Given the description of an element on the screen output the (x, y) to click on. 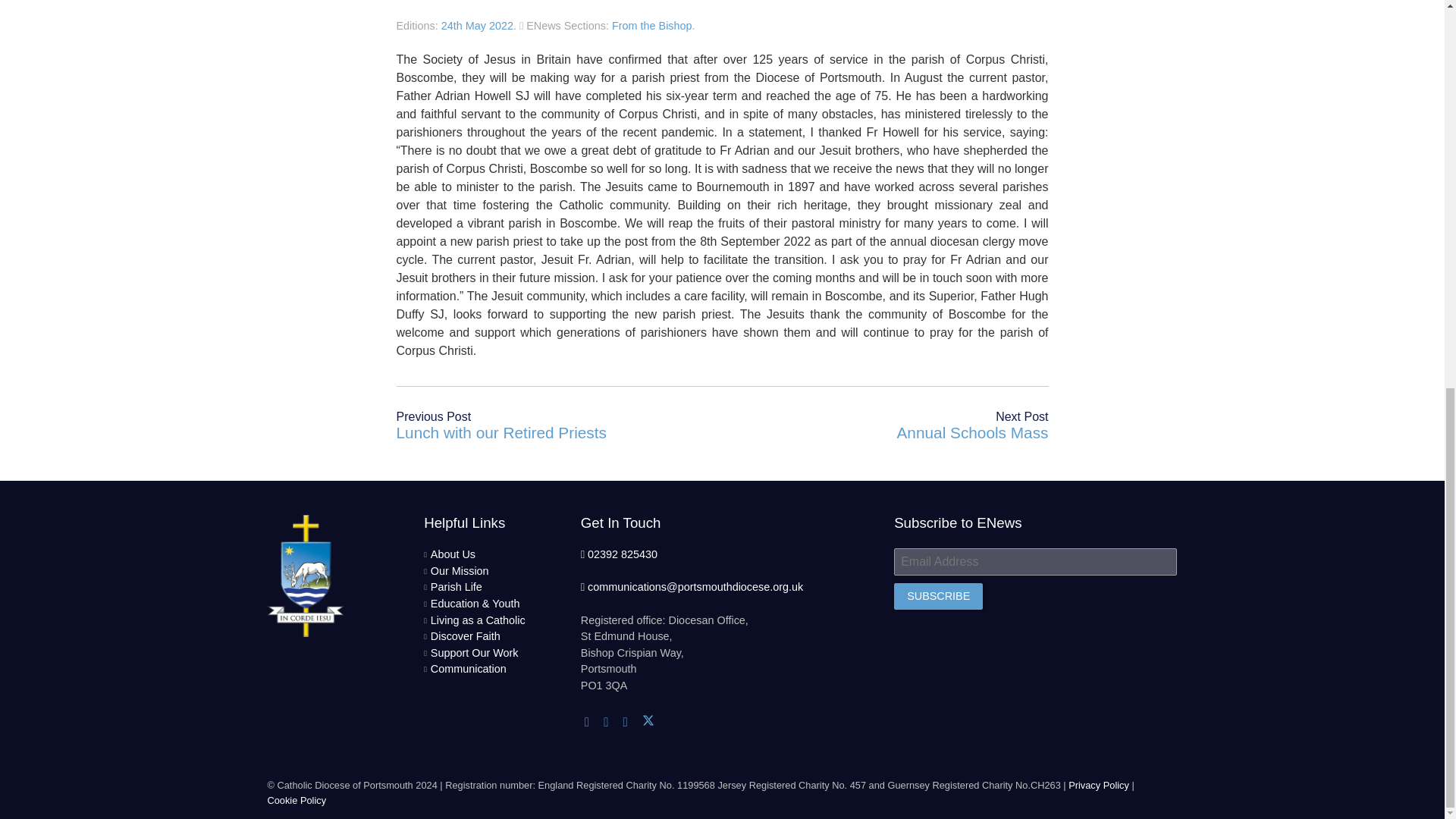
Subscribe (937, 596)
